Given the description of an element on the screen output the (x, y) to click on. 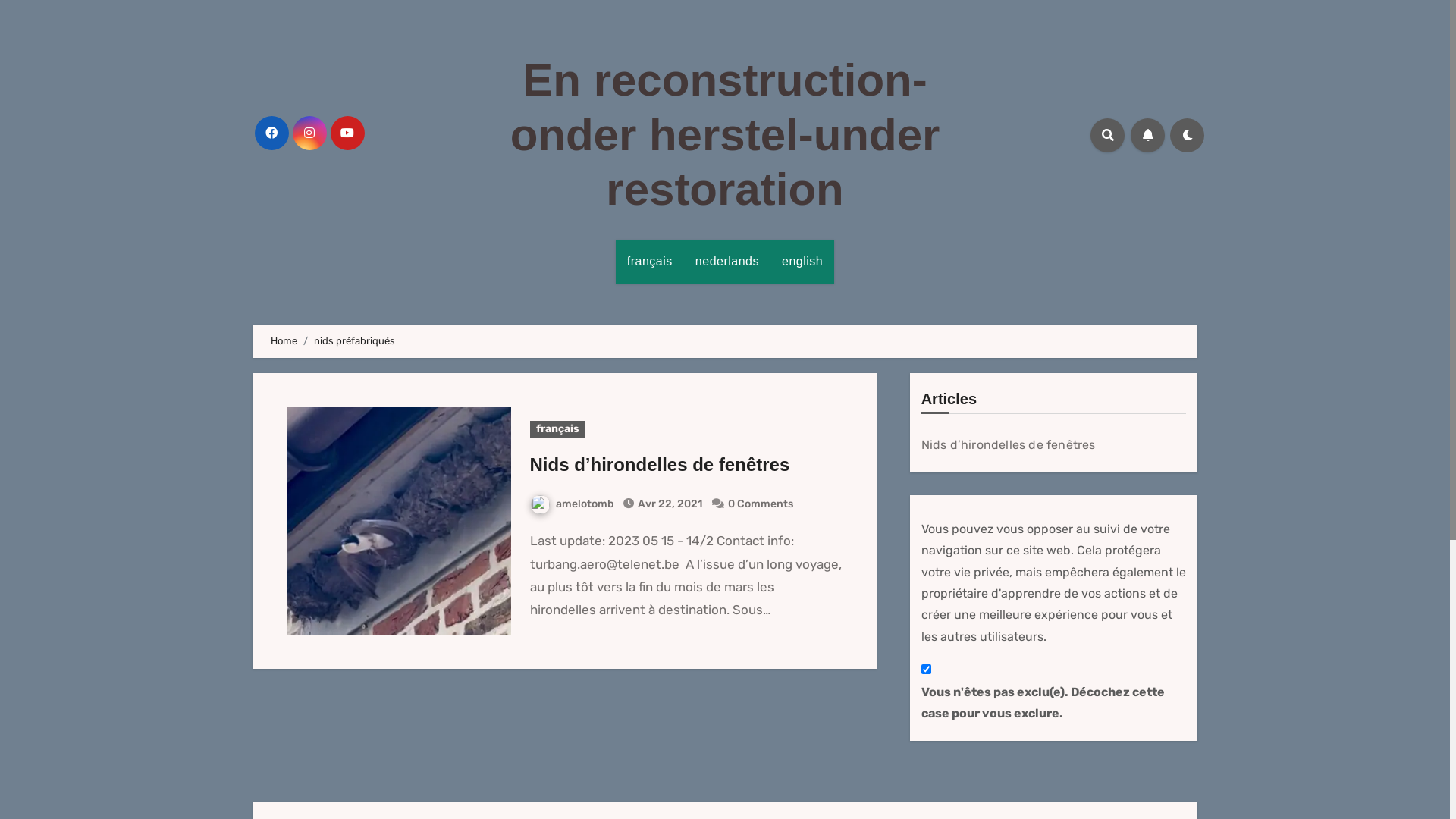
nederlands Element type: text (727, 261)
0 Comments Element type: text (760, 503)
amelotomb Element type: text (571, 503)
En reconstruction-onder herstel-under restoration Element type: text (725, 134)
Home Element type: text (283, 340)
Avr 22, 2021 Element type: text (668, 503)
english Element type: text (802, 261)
